Given the description of an element on the screen output the (x, y) to click on. 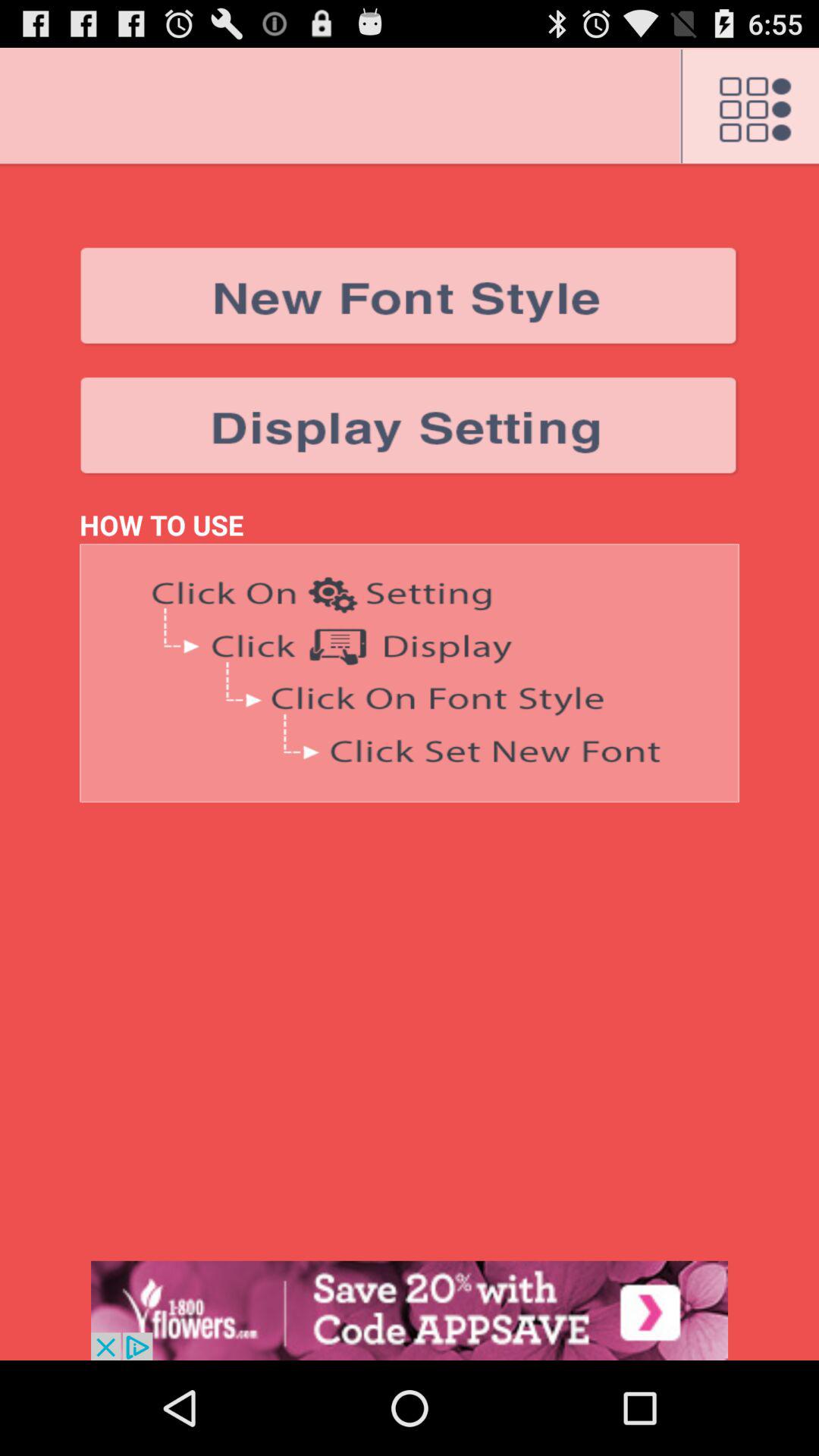
select new font (409, 296)
